Given the description of an element on the screen output the (x, y) to click on. 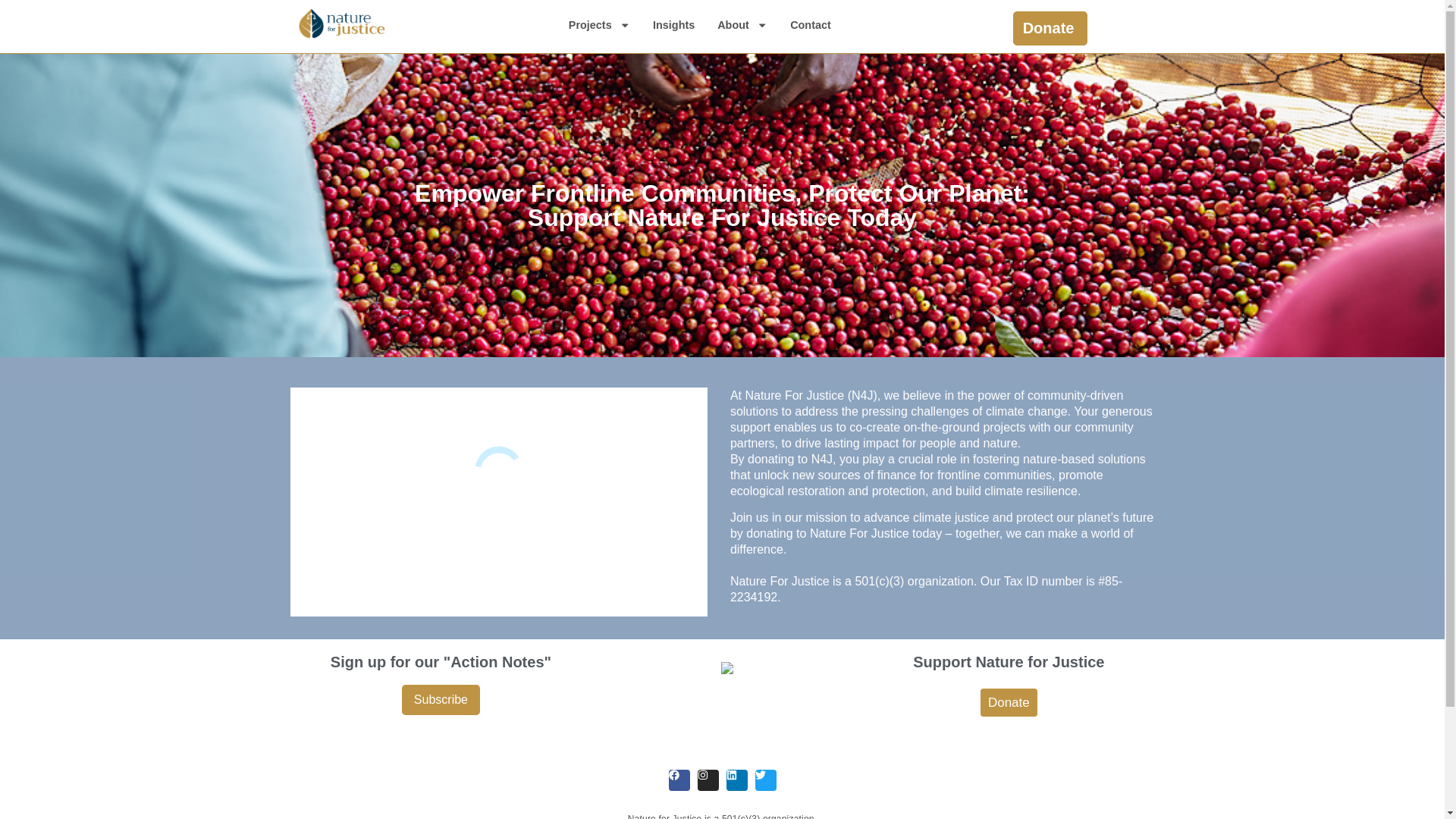
Donate (1050, 28)
About (742, 24)
Insights (674, 24)
Contact (810, 24)
Projects (599, 24)
